Given the description of an element on the screen output the (x, y) to click on. 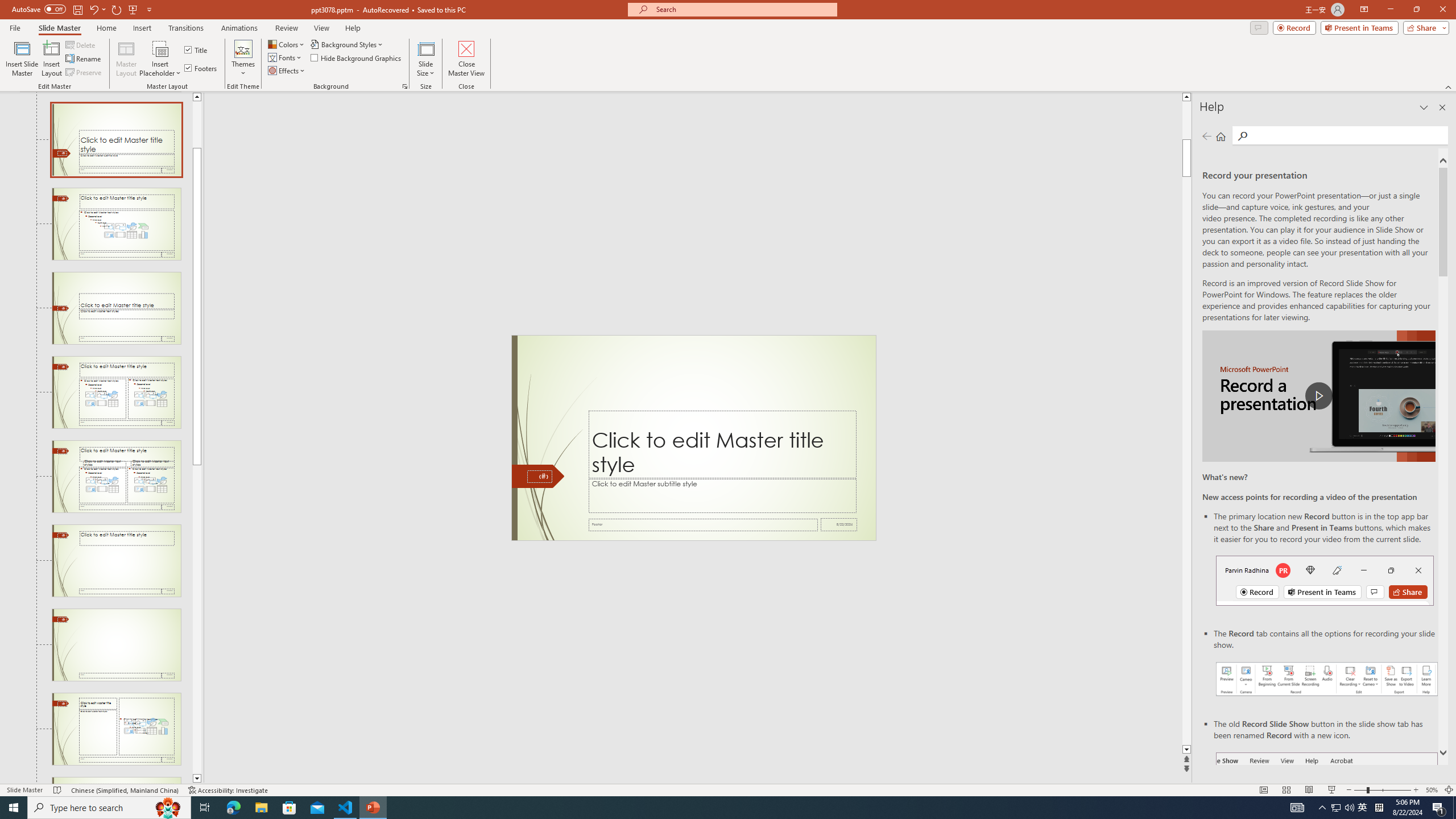
Hide Background Graphics (356, 56)
Slide Picture with Caption Layout: used by no slides (116, 780)
Colors (287, 44)
Title (196, 49)
Slide Title Slide Layout: used by slide(s) 1 (116, 140)
